Given the description of an element on the screen output the (x, y) to click on. 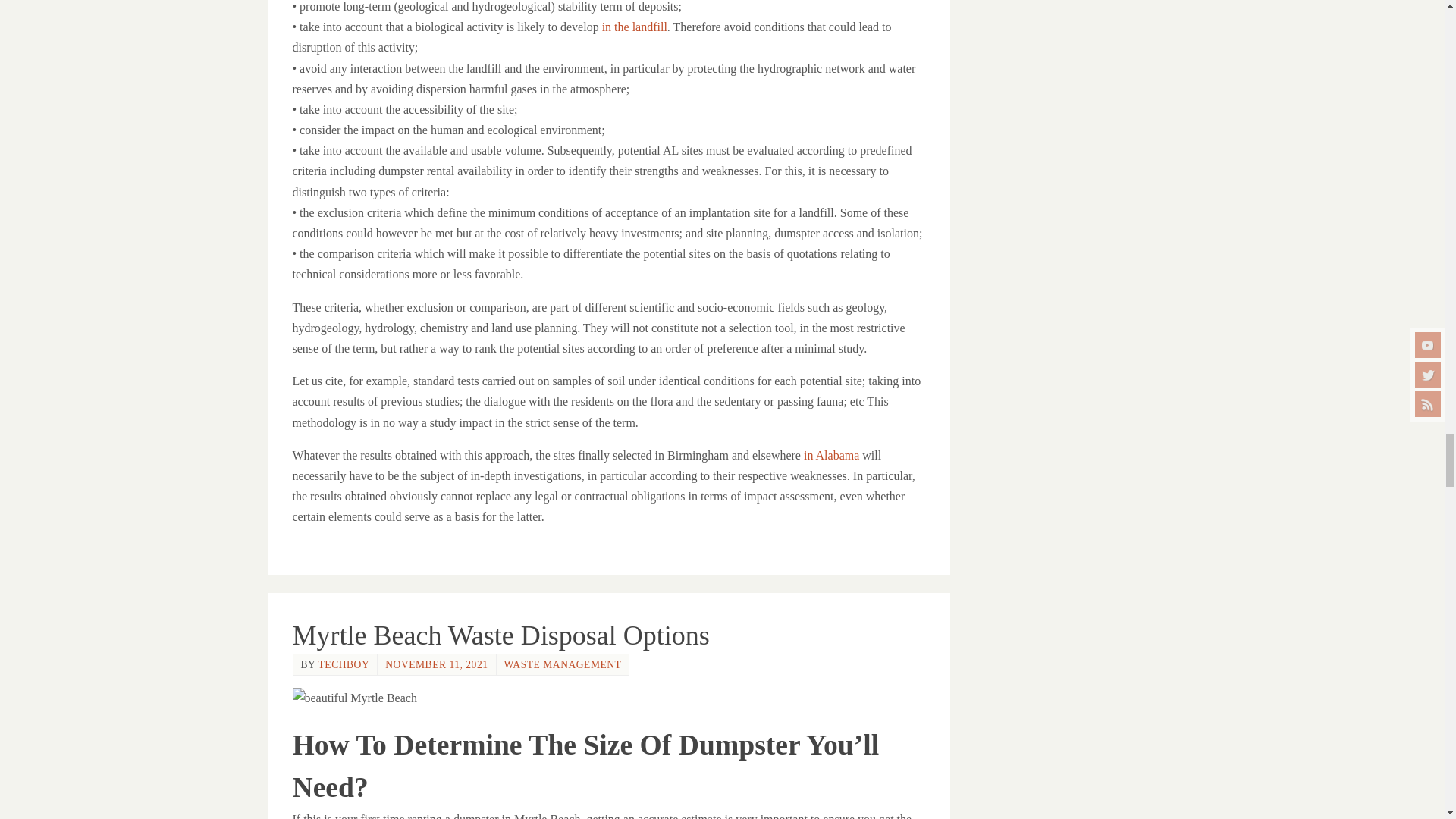
Permalink to Myrtle Beach Waste Disposal Options (501, 634)
